Given the description of an element on the screen output the (x, y) to click on. 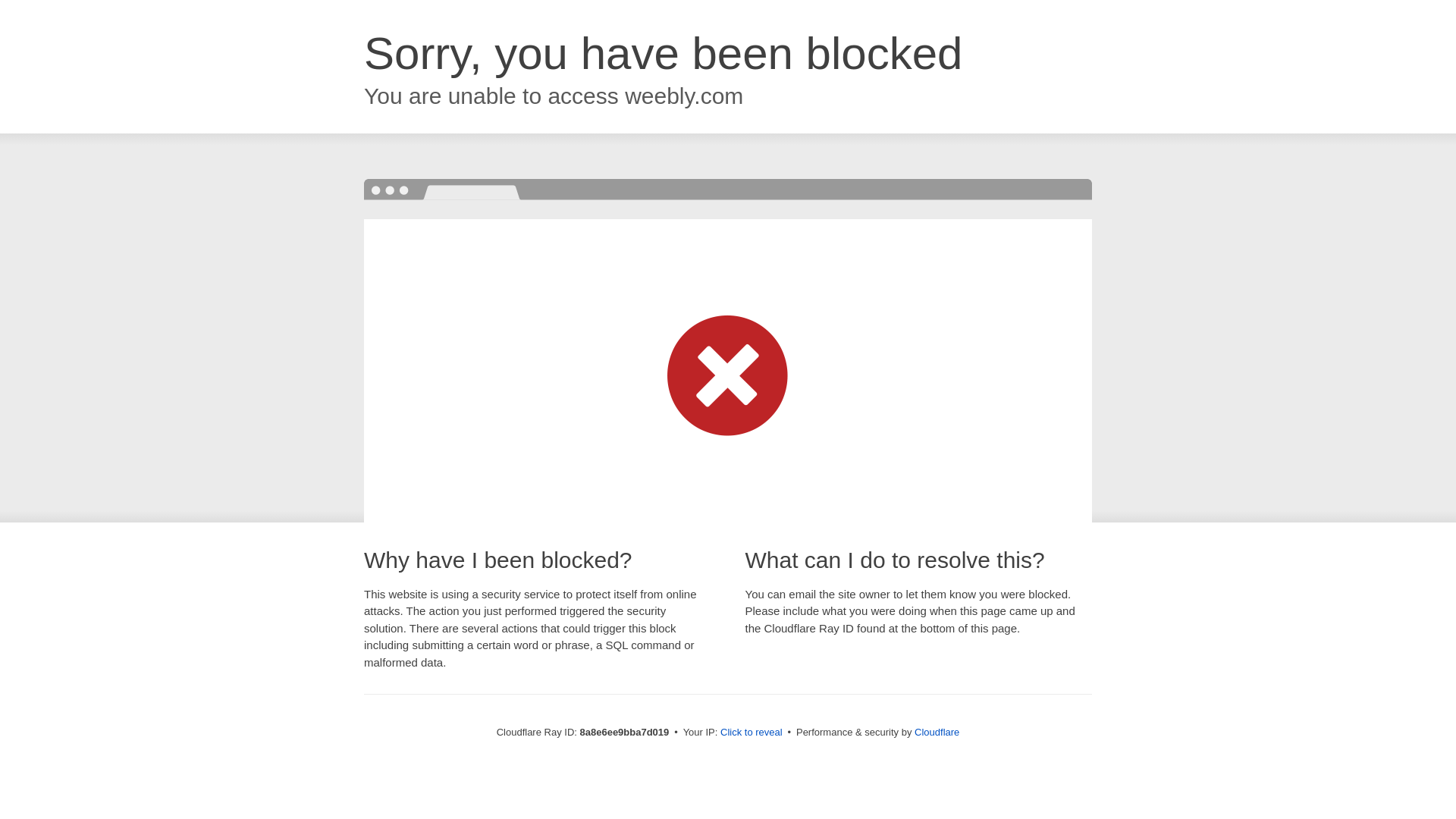
Click to reveal (751, 732)
Cloudflare (936, 731)
